Given the description of an element on the screen output the (x, y) to click on. 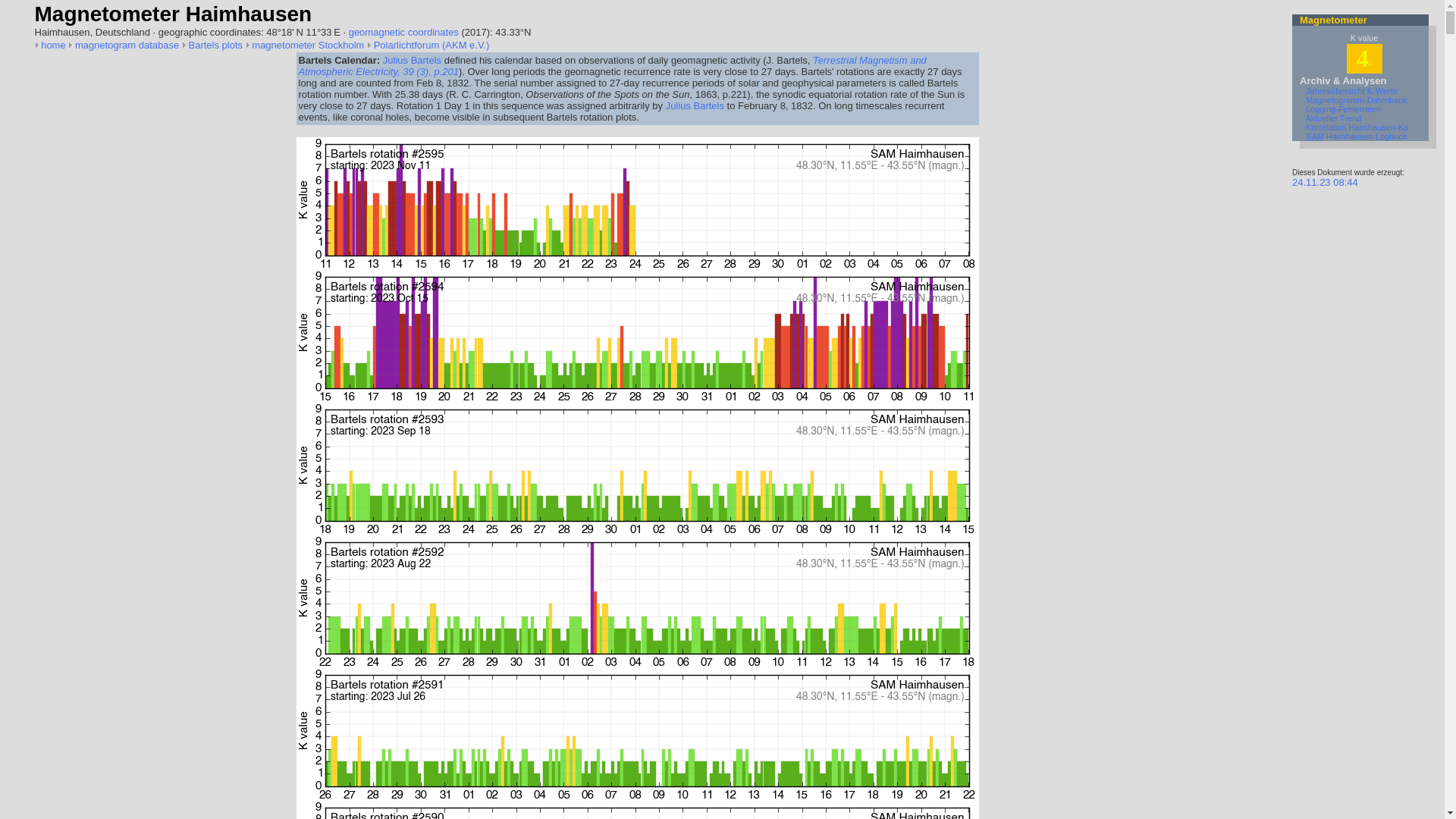
24.11.23 08:44 Element type: text (1325, 182)
Bartels-Rotation 2594 Element type: hover (636, 335)
SAM Haimhausen Logbuch Element type: text (1356, 136)
Bartels-Rotation 2592 Element type: hover (636, 601)
Aktueller Trend Element type: text (1333, 117)
Logging-Fehlerraten Element type: text (1342, 108)
Bartels-Rotation 2595 Element type: hover (636, 203)
home Element type: text (52, 44)
geomagnetic coordinates Element type: text (403, 31)
Magnetogramm-Datenbank Element type: text (1356, 99)
Julius Bartels Element type: text (411, 59)
Bartels plots Element type: text (215, 44)
Polarlichtforum (AKM e.V.) Element type: text (431, 44)
Julius Bartels Element type: text (694, 105)
Korrelation Haimhausen-Kp Element type: text (1356, 126)
magnetogram database Element type: text (126, 44)
Bartels-Rotation 2593 Element type: hover (636, 468)
magnetometer Stockholm Element type: text (307, 44)
Bartels-Rotation 2591 Element type: hover (636, 734)
